Given the description of an element on the screen output the (x, y) to click on. 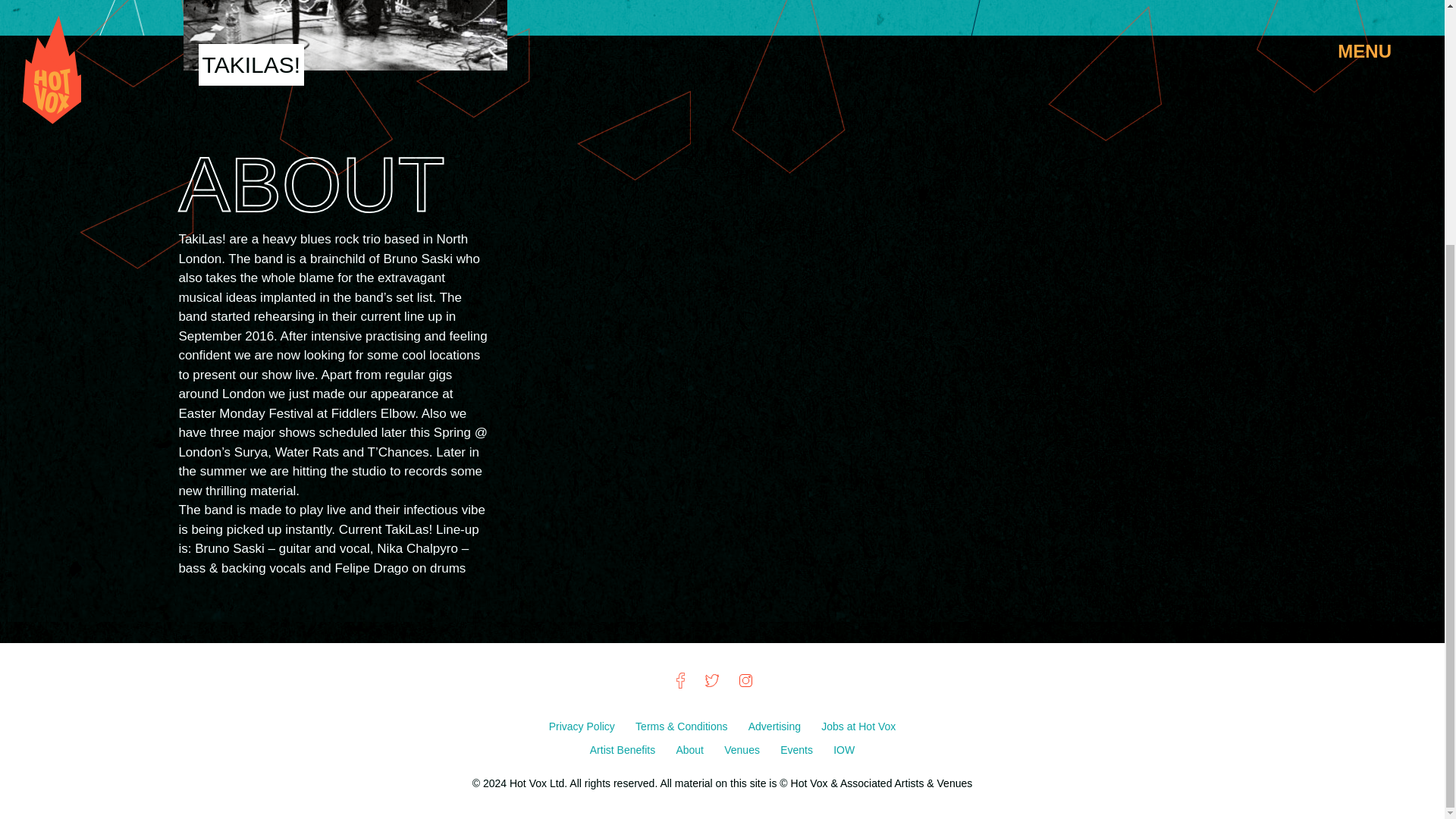
Jobs at Hot Vox (858, 726)
About (690, 749)
Events (797, 749)
Privacy Policy (582, 726)
IOW (843, 749)
Advertising (775, 726)
Venues (742, 749)
Artist Benefits (623, 749)
